Given the description of an element on the screen output the (x, y) to click on. 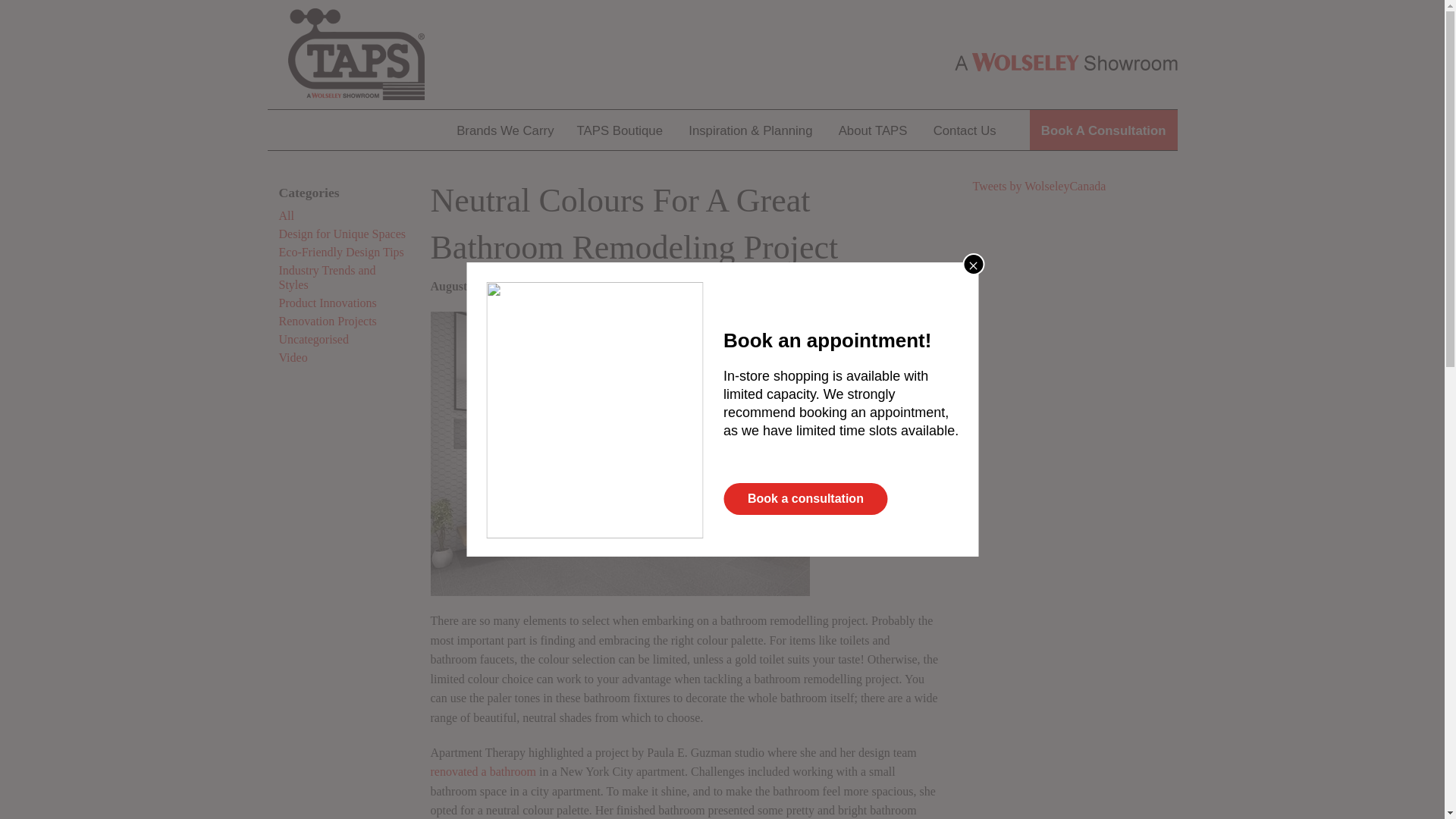
Book A Consultation (1103, 129)
Send Us A Message (963, 169)
About TAPS (872, 129)
Inspirational Gallery (751, 250)
Choosing a Designer (751, 169)
Newsletter Signup (963, 331)
Budget Planning (751, 210)
Our Locations (963, 210)
Book A Consultation (963, 291)
Contact Us (964, 129)
TAPS Boutique (620, 129)
Our Consultants (963, 250)
Brands We Carry (504, 129)
